Given the description of an element on the screen output the (x, y) to click on. 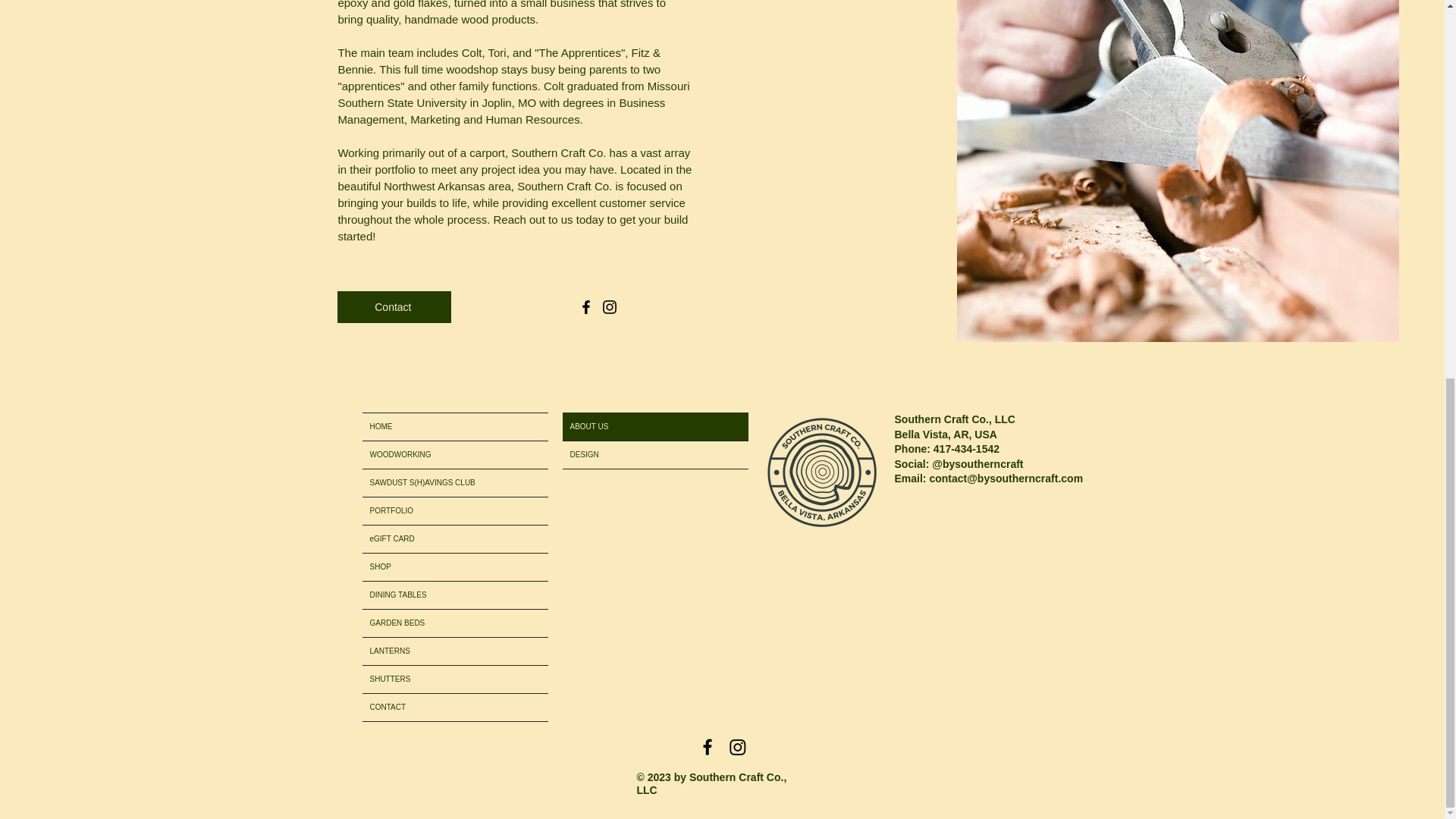
SHUTTERS (455, 678)
DESIGN (655, 454)
LANTERNS (455, 651)
PORTFOLIO (455, 510)
HOME (455, 426)
WOODWORKING (455, 454)
SHOP (455, 566)
DINING TABLES (455, 595)
GARDEN BEDS (455, 623)
eGIFT CARD (455, 538)
Contact (394, 306)
CONTACT (455, 707)
ABOUT US (655, 426)
